Given the description of an element on the screen output the (x, y) to click on. 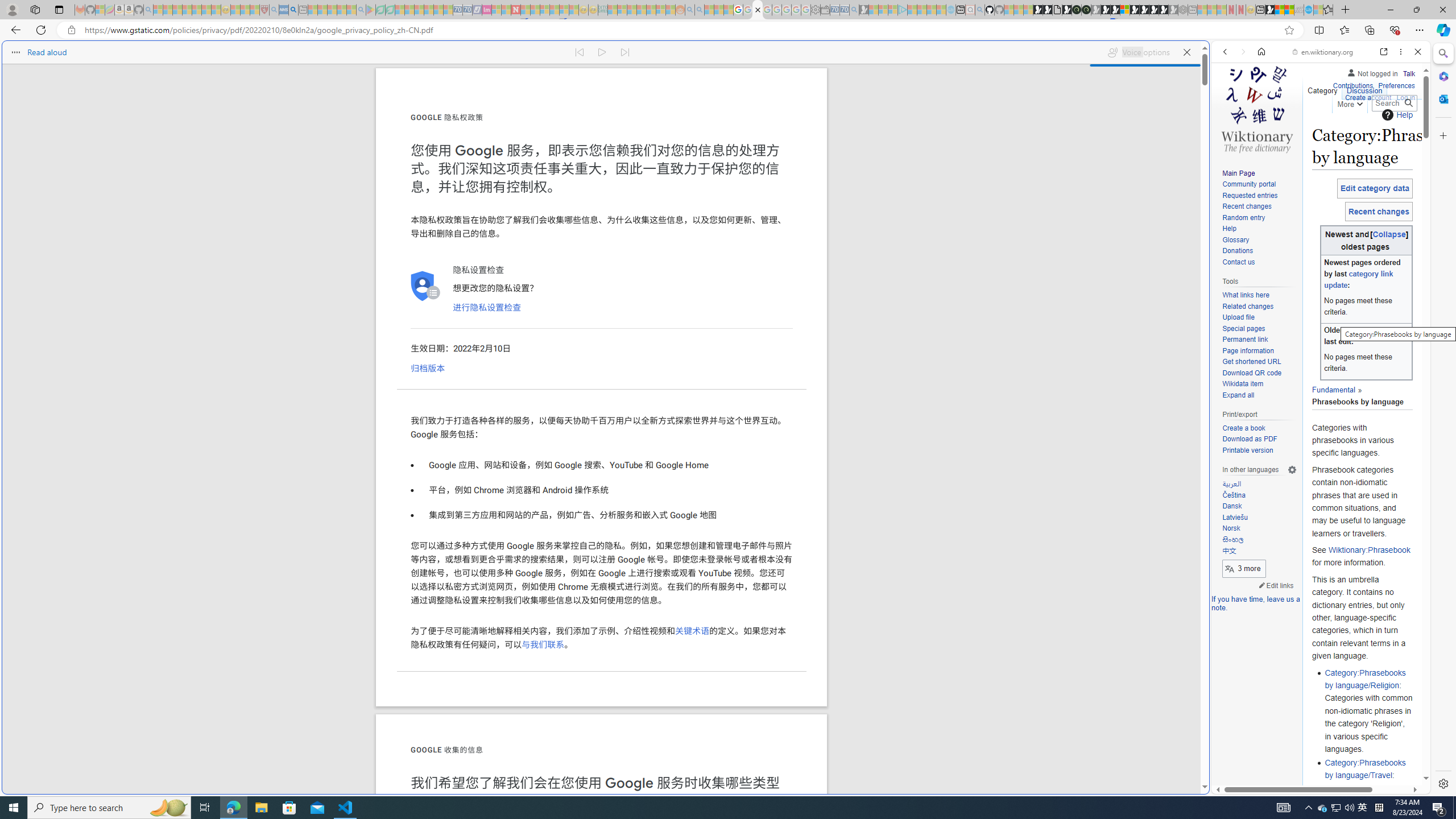
Printable version (1247, 449)
Language settings (1292, 470)
